Given the description of an element on the screen output the (x, y) to click on. 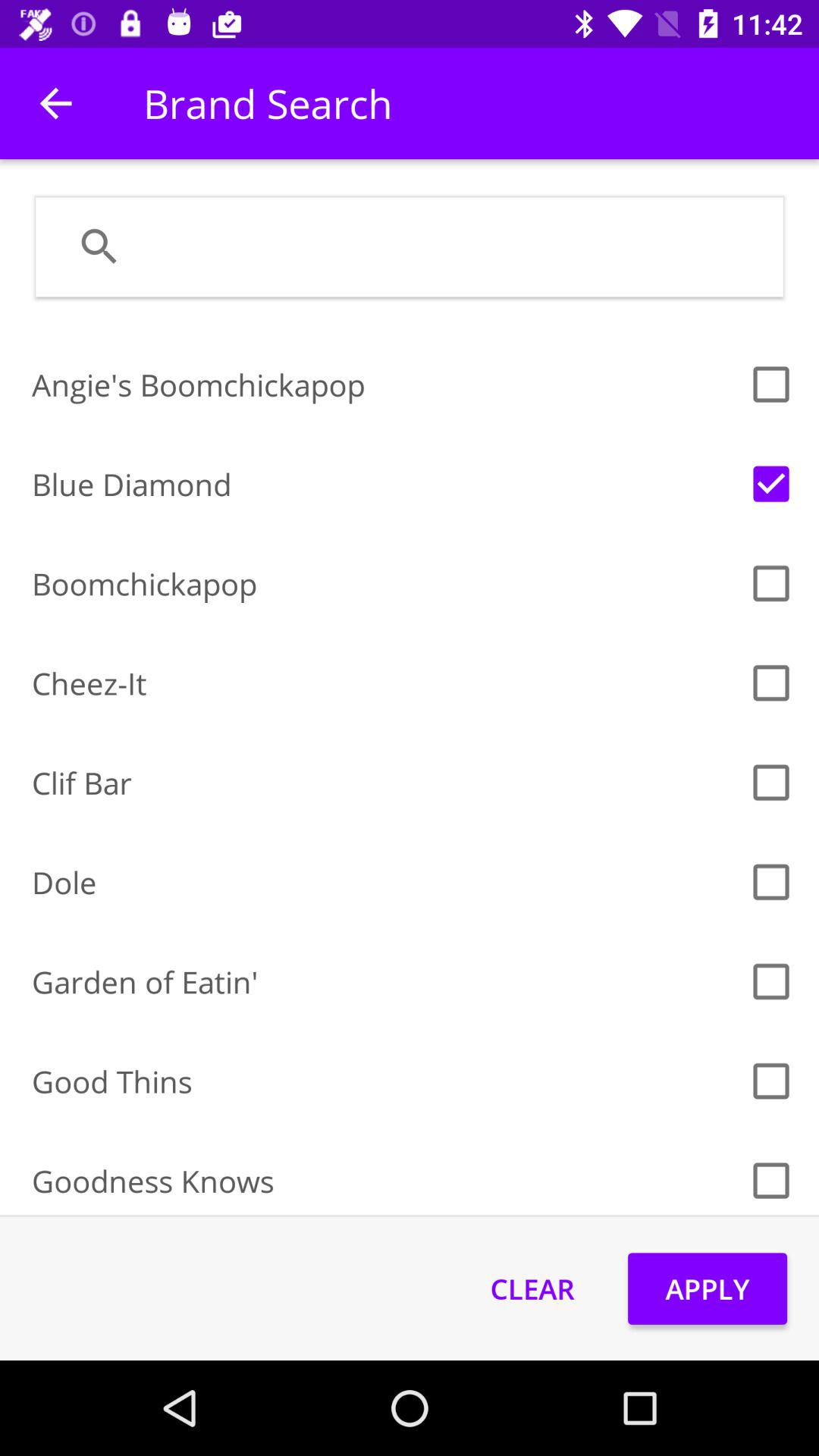
press the item to the left of the brand search icon (55, 103)
